Given the description of an element on the screen output the (x, y) to click on. 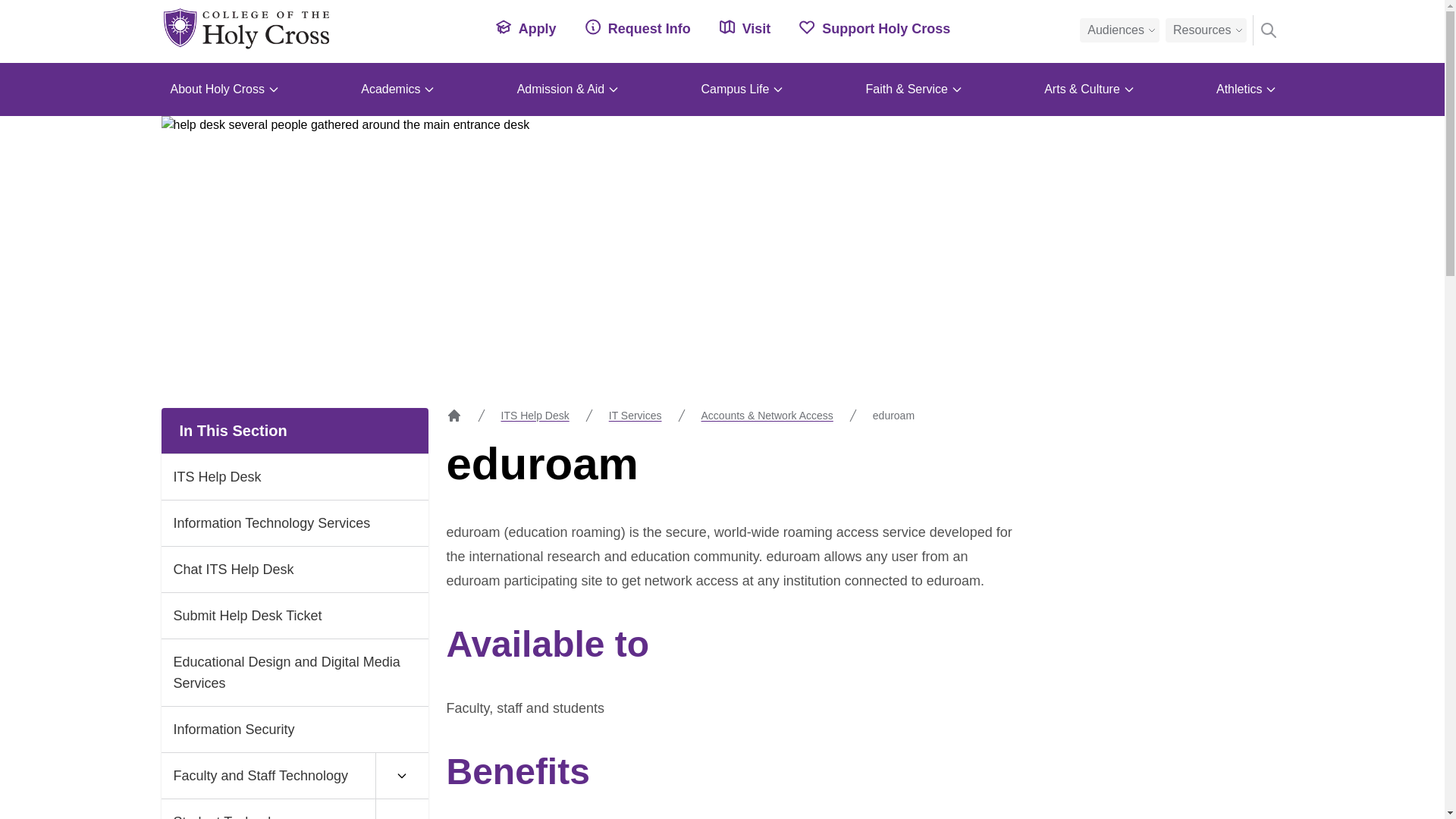
Visit (744, 27)
Audiences (1119, 30)
search icon (1267, 30)
Resources (1206, 30)
Request Info (636, 27)
Support Holy Cross (873, 27)
Expand (401, 809)
Academics (396, 88)
Expand Academics (429, 89)
Expand About Holy Cross (273, 89)
Apply (525, 27)
Search (1268, 30)
Expand (401, 775)
About Holy Cross (222, 88)
